Given the description of an element on the screen output the (x, y) to click on. 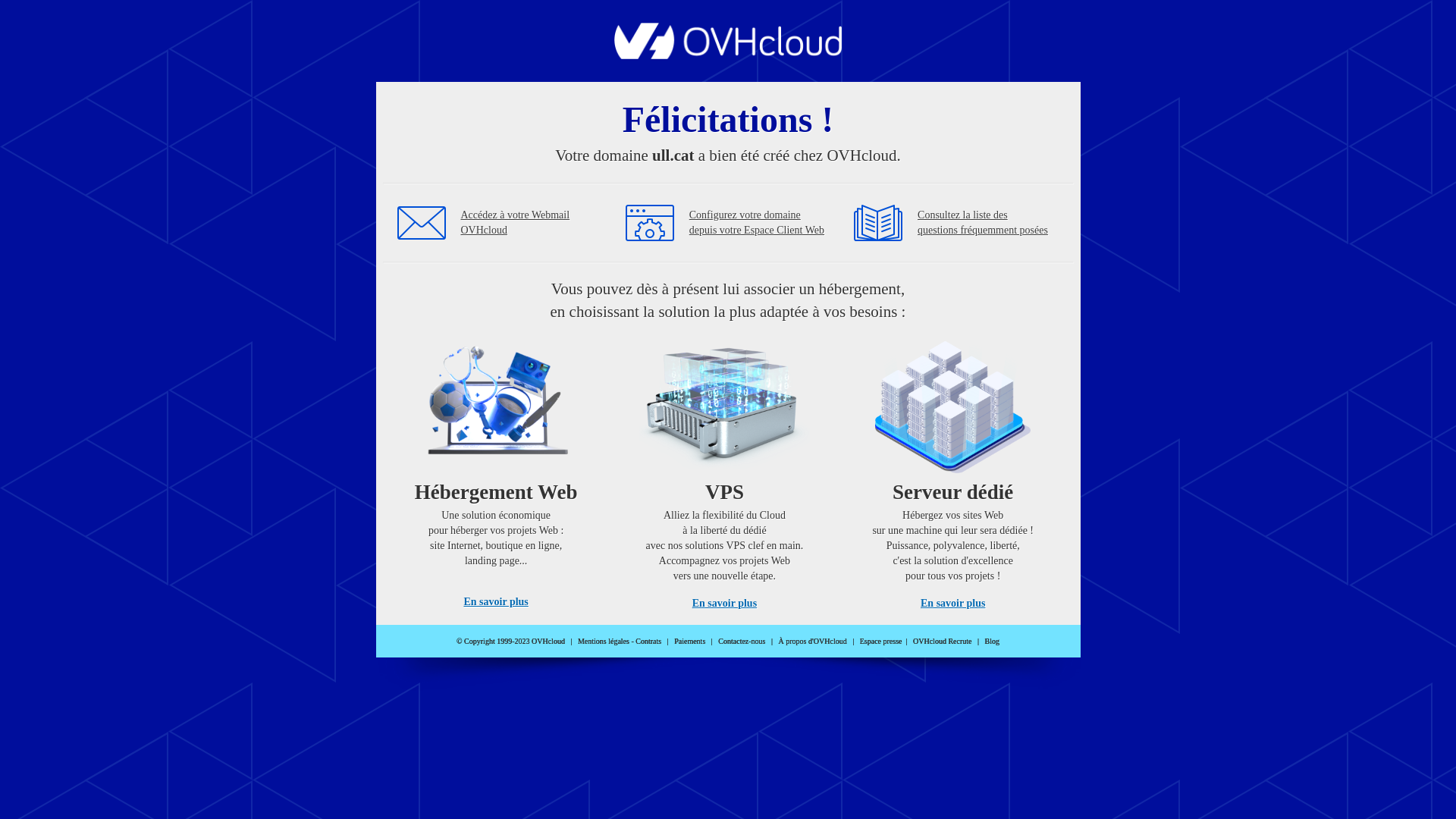
Configurez votre domaine
depuis votre Espace Client Web Element type: text (756, 222)
Contactez-nous Element type: text (741, 641)
Espace presse Element type: text (880, 641)
En savoir plus Element type: text (952, 602)
Paiements Element type: text (689, 641)
OVHcloud Recrute Element type: text (942, 641)
VPS Element type: hover (724, 469)
En savoir plus Element type: text (495, 601)
OVHcloud Element type: hover (727, 54)
Blog Element type: text (992, 641)
En savoir plus Element type: text (724, 602)
